Given the description of an element on the screen output the (x, y) to click on. 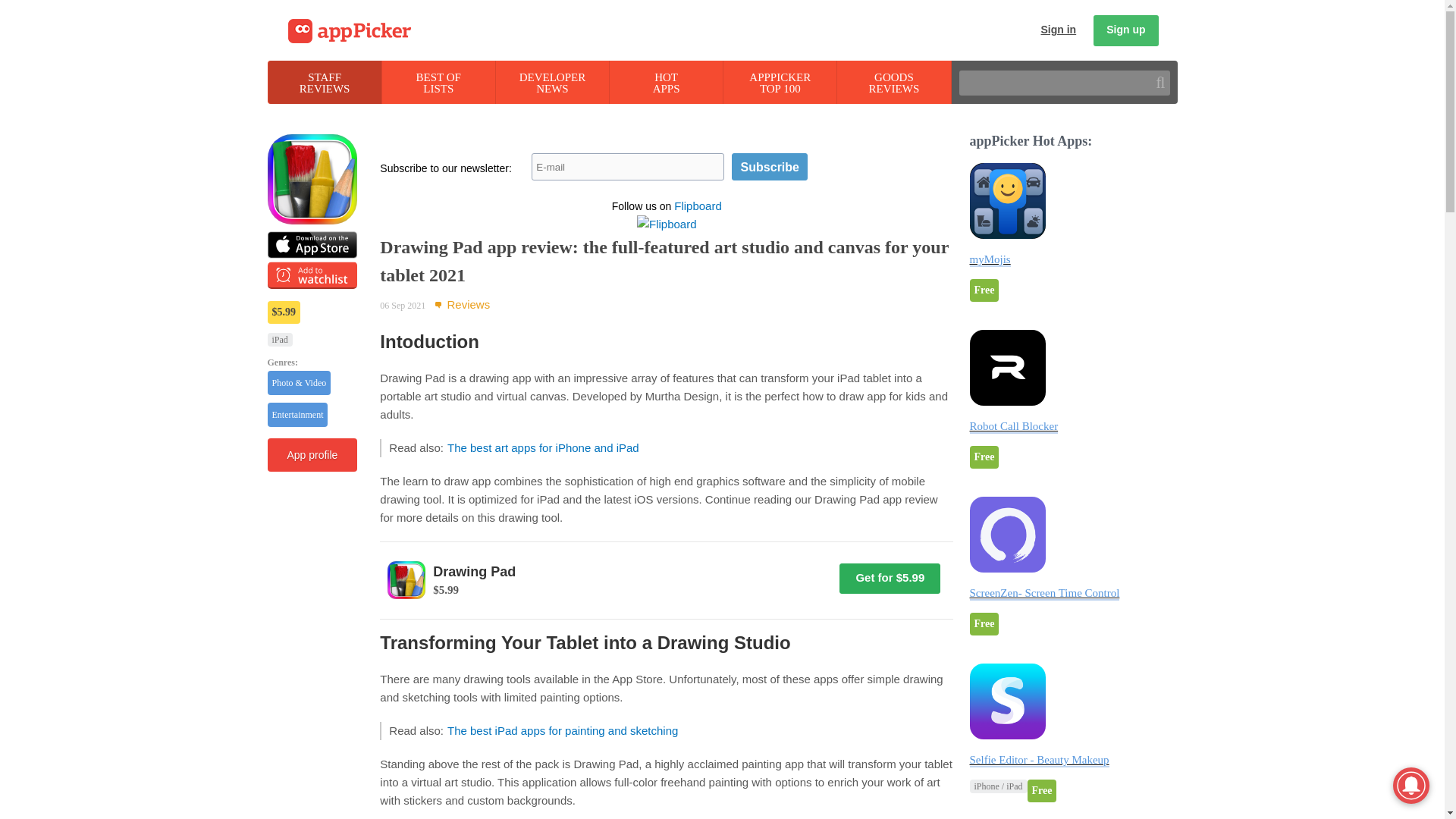
Subscribe (770, 166)
AppPicker (350, 31)
Sign up (893, 82)
Subscribe (779, 82)
Subscribe (1125, 30)
Download from AppStore (666, 82)
Flipboard (770, 166)
Search (770, 166)
App profile (552, 82)
